Given the description of an element on the screen output the (x, y) to click on. 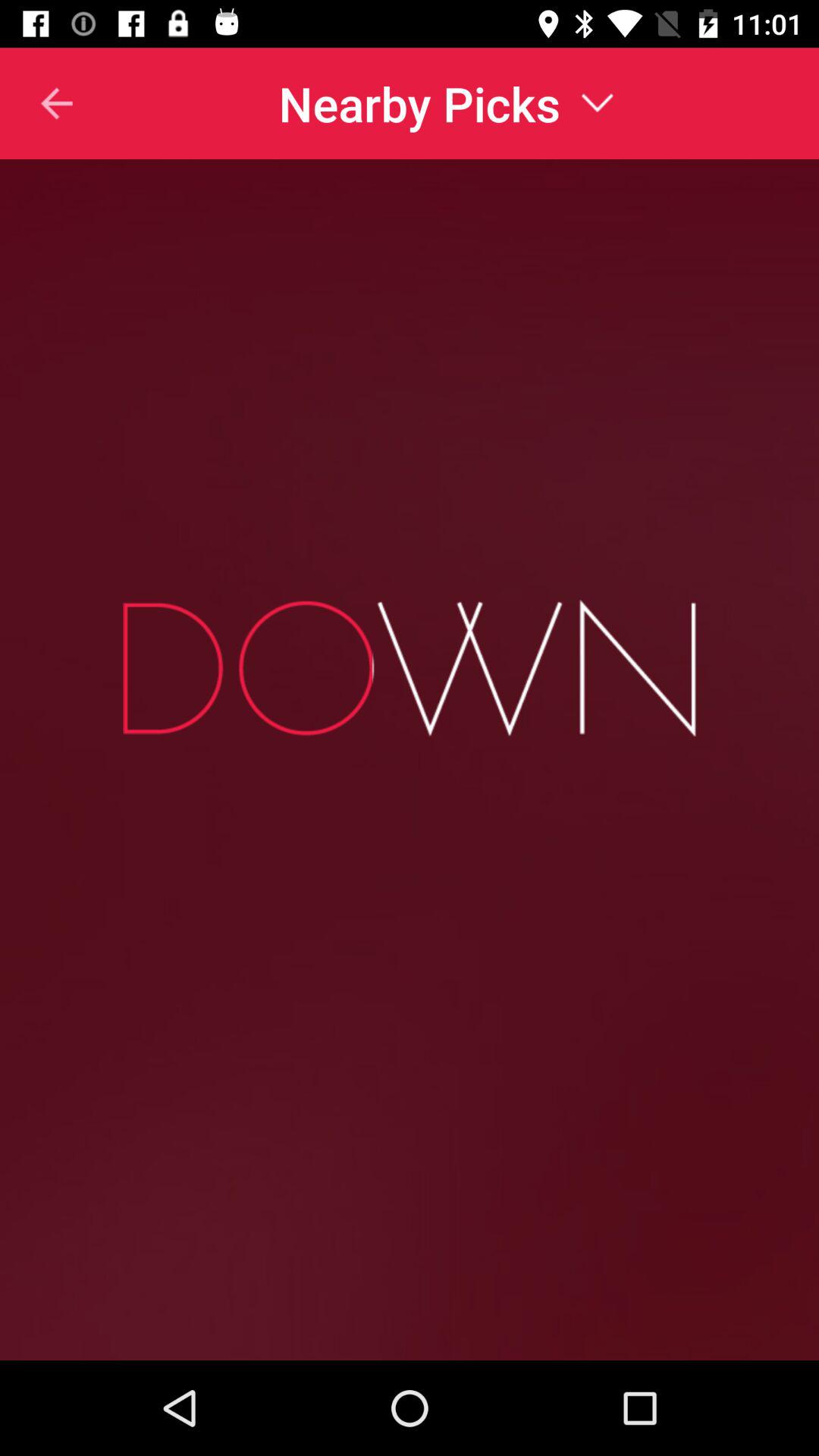
flip to nearby picks item (446, 103)
